Given the description of an element on the screen output the (x, y) to click on. 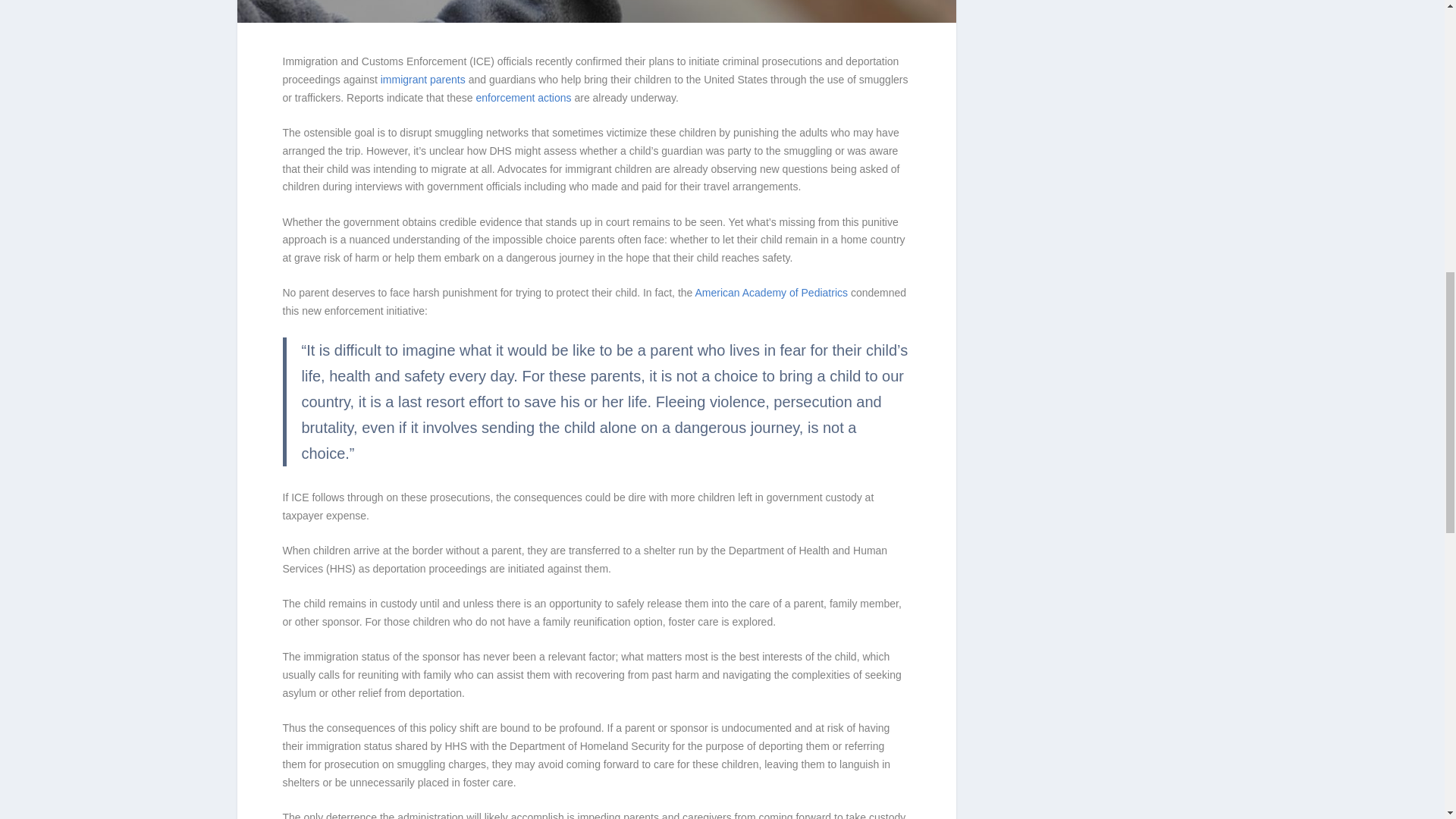
American Academy of Pediatrics (770, 292)
immigrant parents (422, 79)
enforcement actions (523, 97)
